Given the description of an element on the screen output the (x, y) to click on. 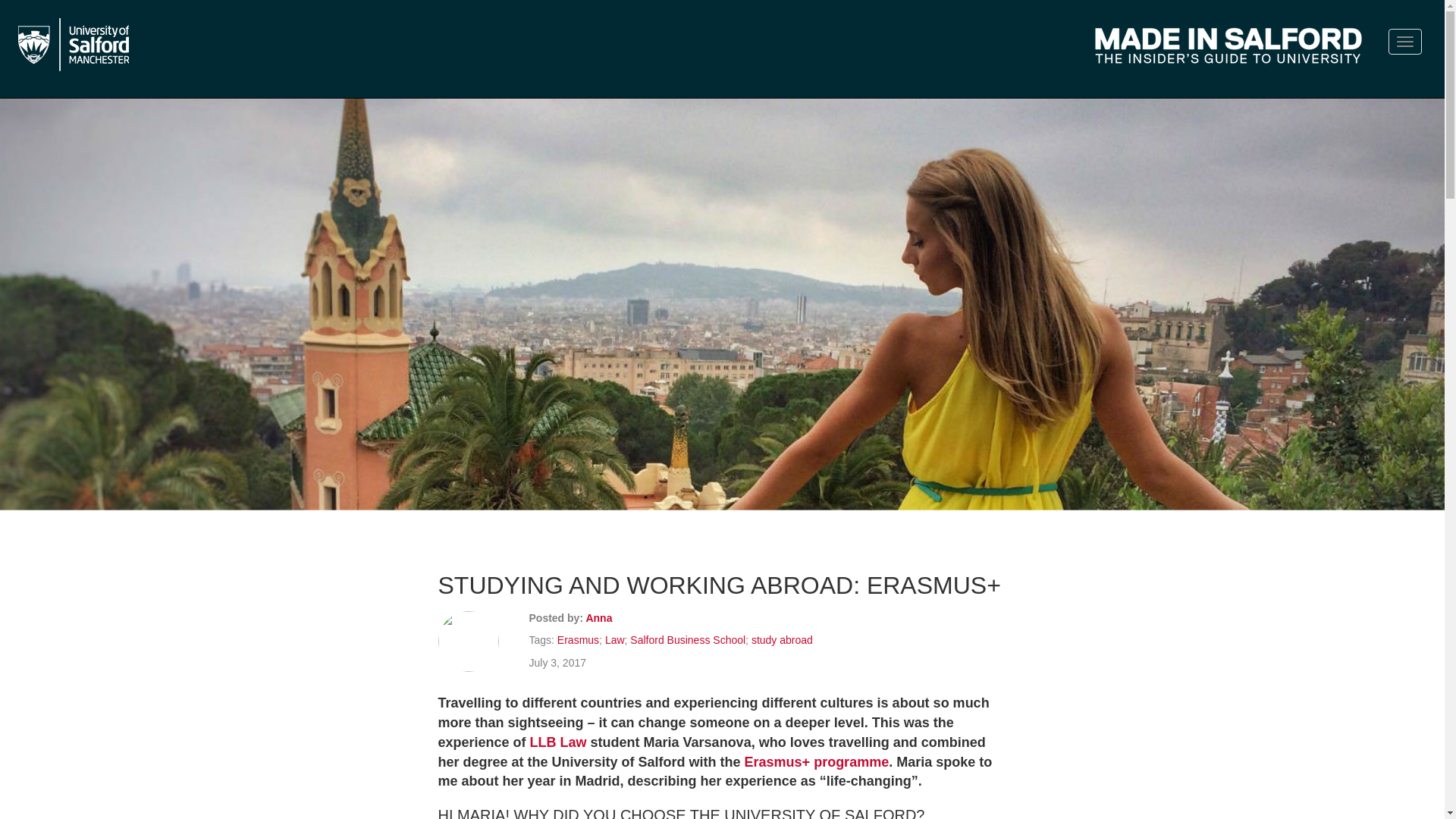
Anna (598, 616)
study abroad (781, 639)
Salford Business School (687, 639)
LLB Law (557, 742)
Law (614, 639)
Posts by Anna (598, 616)
Erasmus (577, 639)
